Given the description of an element on the screen output the (x, y) to click on. 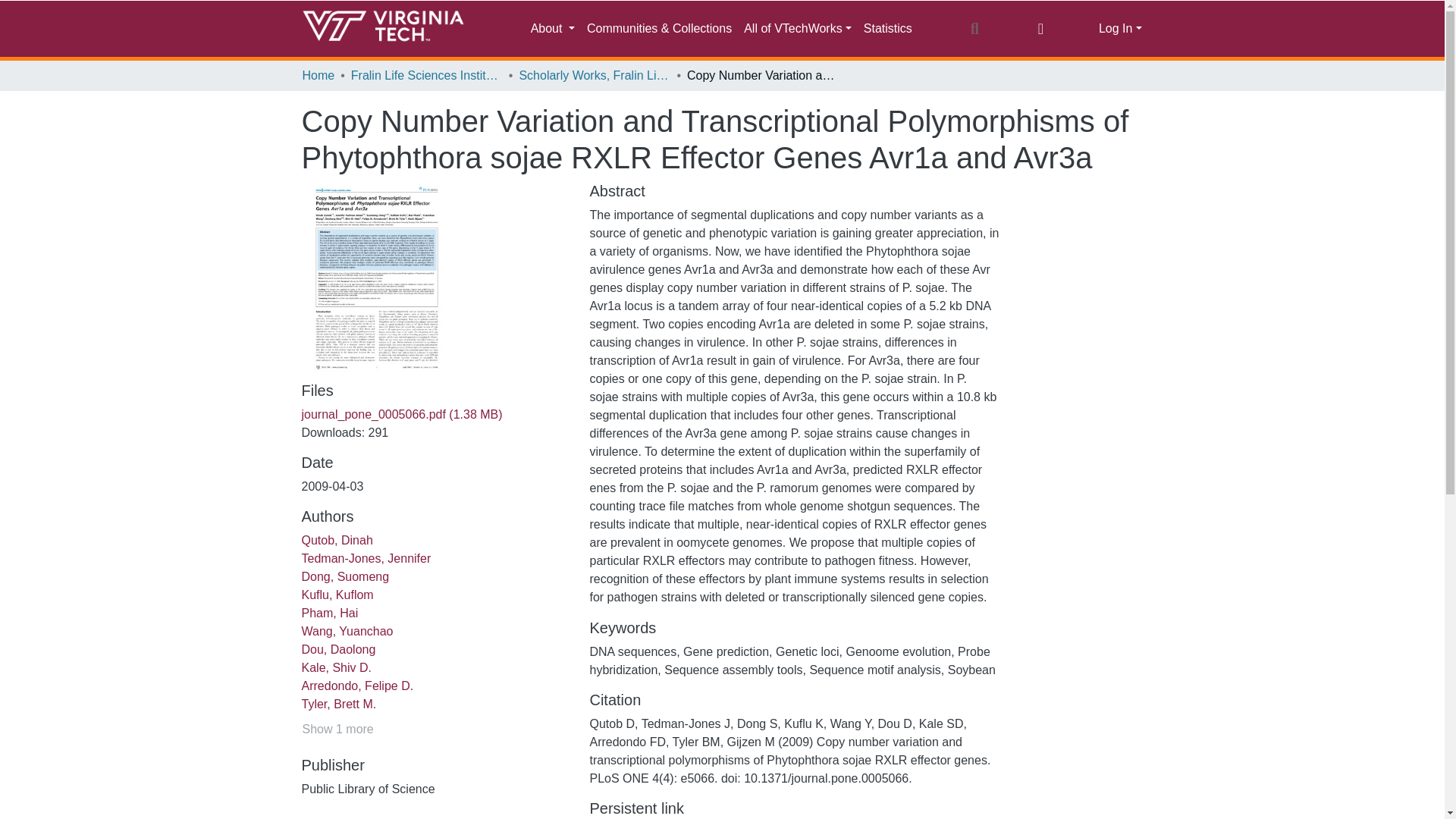
Dou, Daolong (338, 649)
Qutob, Dinah (336, 540)
Statistics (887, 28)
Dong, Suomeng (345, 576)
Pham, Hai (329, 612)
Kale, Shiv D. (336, 667)
Tedman-Jones, Jennifer (365, 558)
Log In (1119, 28)
Show 1 more (337, 729)
Tyler, Brett M. (339, 703)
Home (317, 75)
Wang, Yuanchao (347, 631)
Scholarly Works, Fralin Life Sciences Institute (593, 75)
Statistics (887, 28)
Kuflu, Kuflom (337, 594)
